Given the description of an element on the screen output the (x, y) to click on. 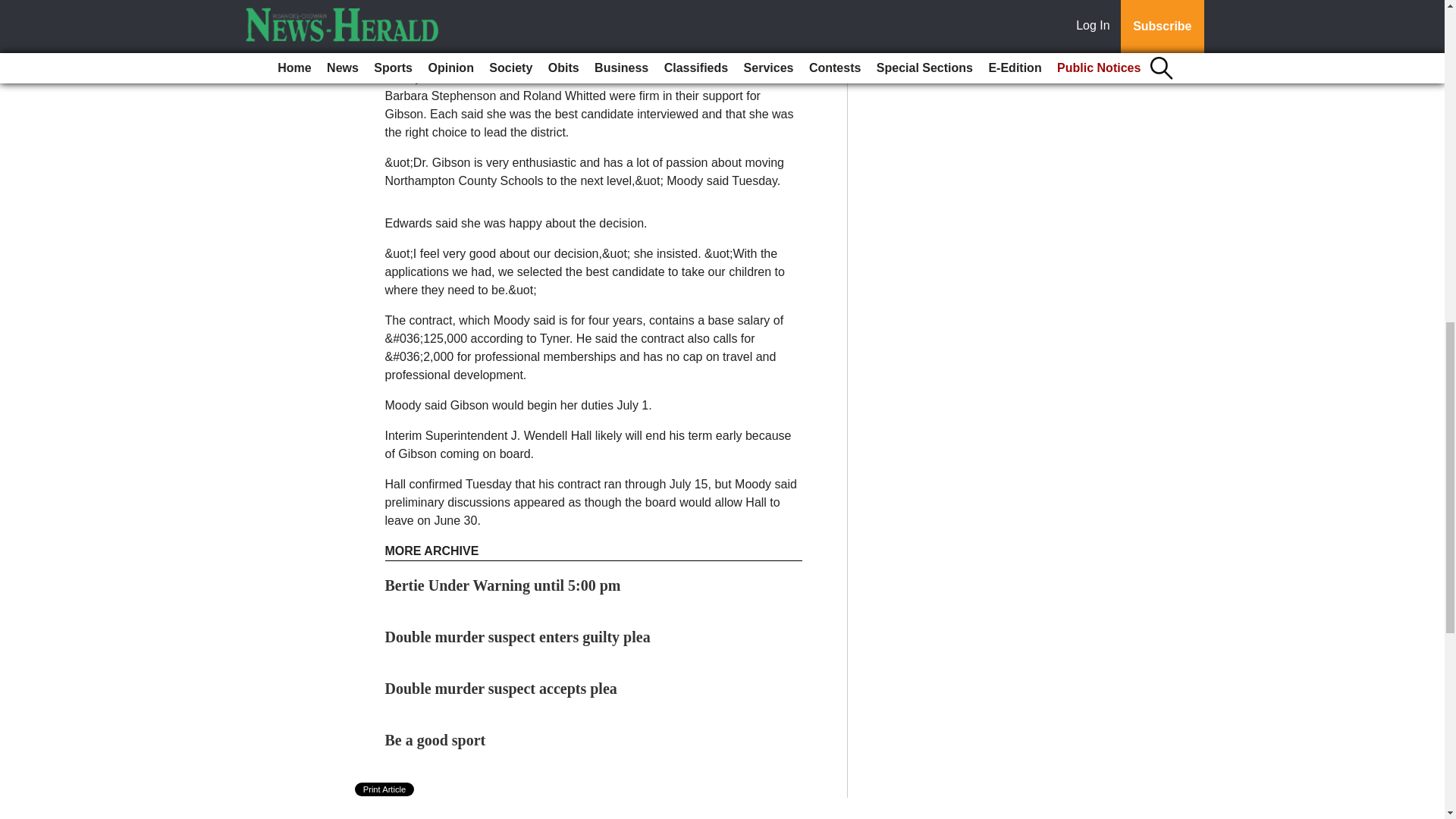
Double murder suspect enters guilty plea (517, 636)
Double murder suspect enters guilty plea (517, 636)
Be a good sport (435, 740)
Double murder suspect accepts plea (501, 688)
Print Article (384, 789)
Be a good sport (435, 740)
Bertie Under Warning until 5:00 pm (503, 585)
Bertie Under Warning until 5:00 pm (503, 585)
Double murder suspect accepts plea (501, 688)
